Given the description of an element on the screen output the (x, y) to click on. 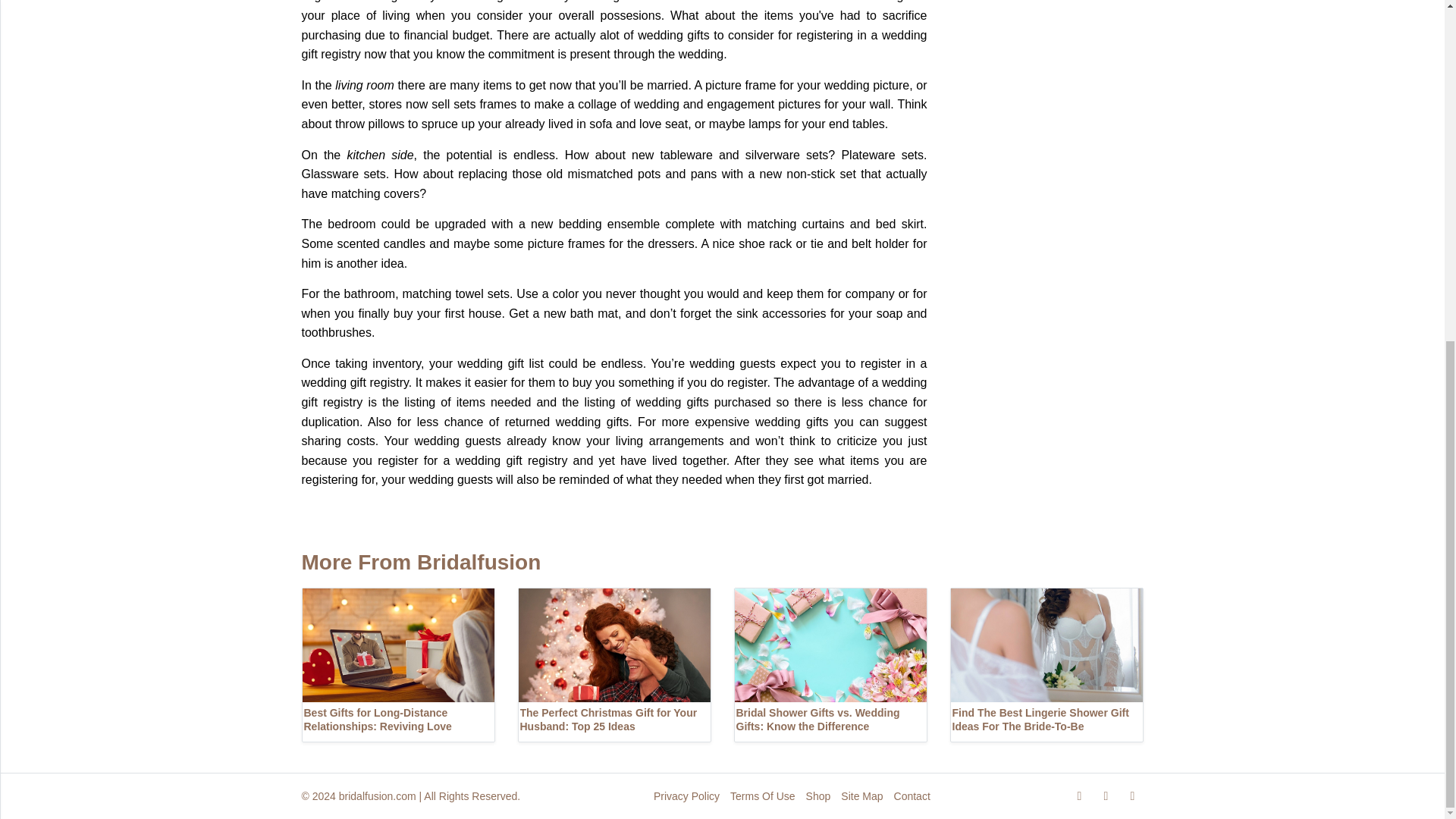
Terms Of Use (762, 796)
Find The Best Lingerie Shower Gift Ideas For The Bride-To-Be (1045, 665)
Best Gifts for Long-Distance Relationships: Reviving Love (398, 665)
Privacy Policy (686, 796)
The Perfect Christmas Gift for Your Husband: Top 25 Ideas (613, 665)
bridalfusion.com (377, 796)
Bridal Shower Gifts vs. Wedding Gifts: Know the Difference (830, 665)
